Given the description of an element on the screen output the (x, y) to click on. 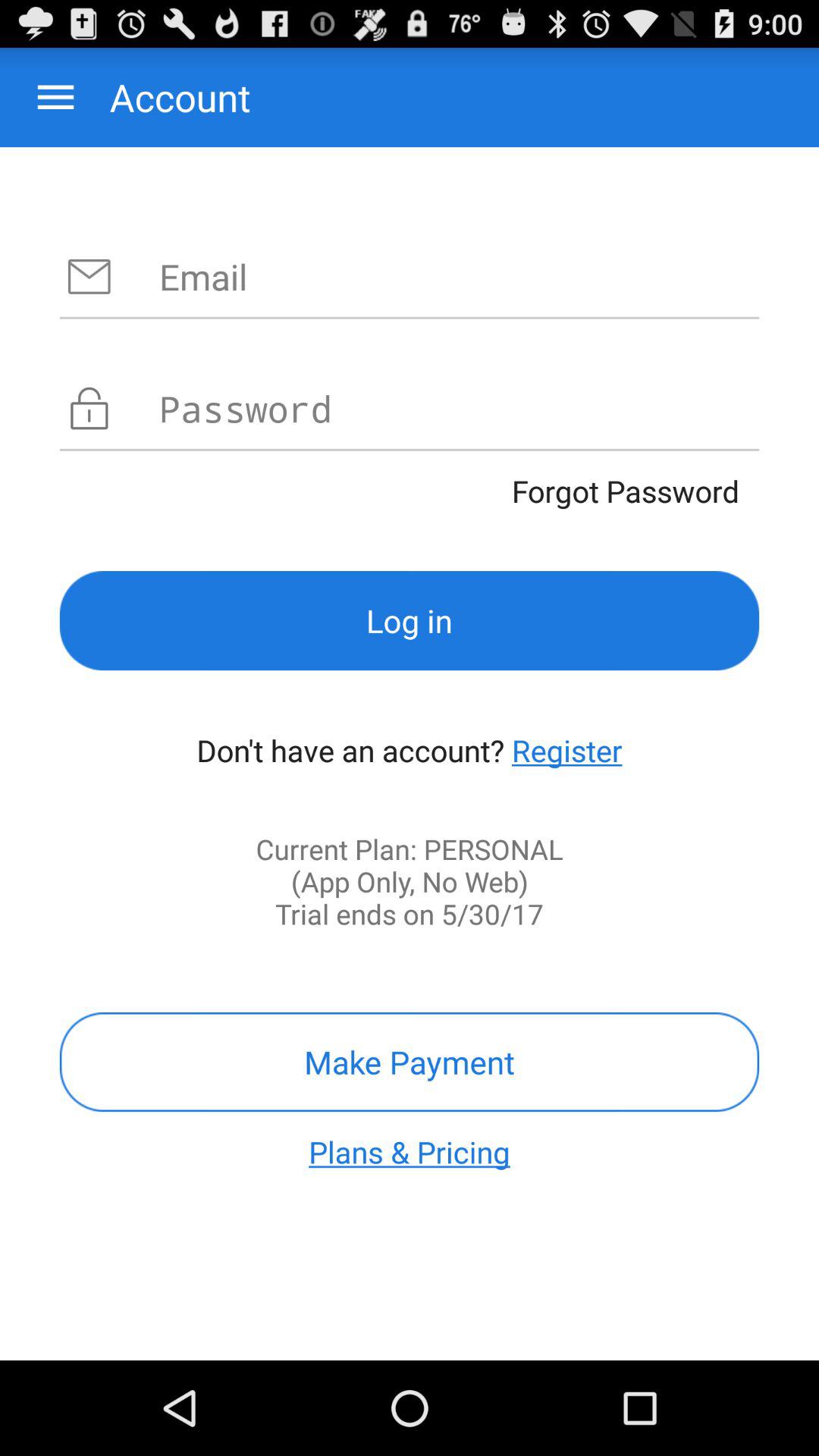
enter the password (459, 408)
